Given the description of an element on the screen output the (x, y) to click on. 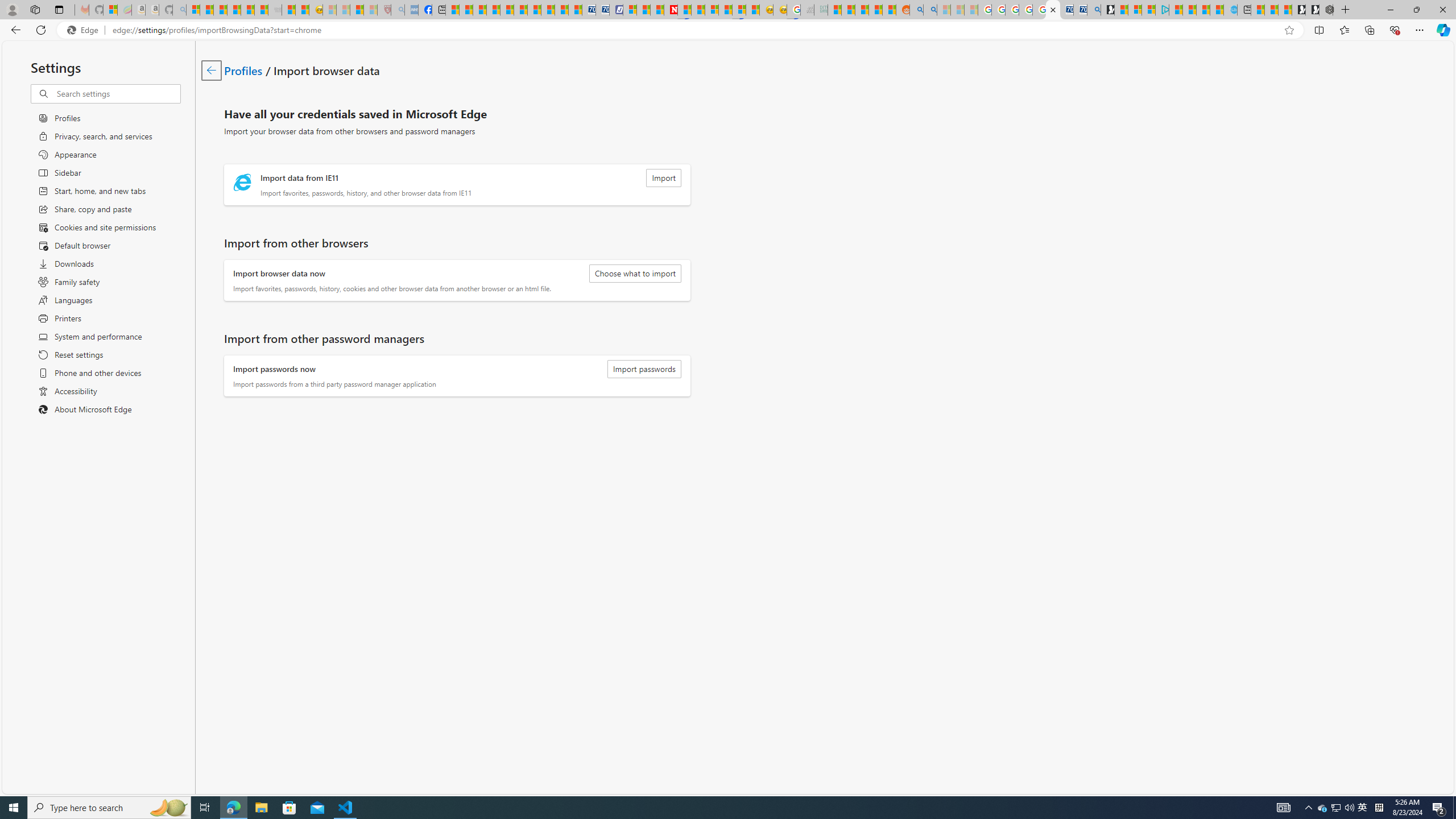
The Weather Channel - MSN (219, 9)
